Given the description of an element on the screen output the (x, y) to click on. 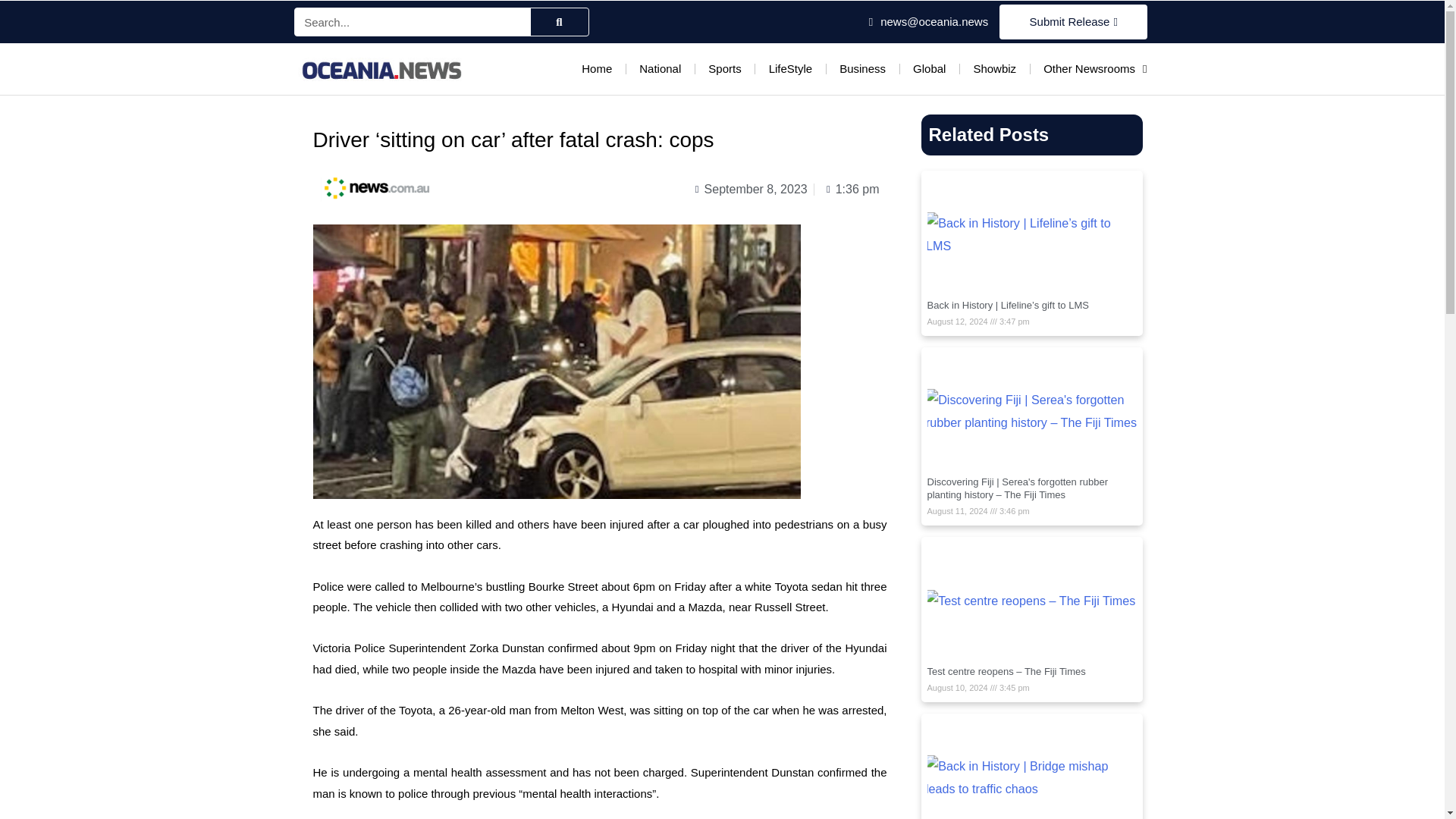
Other Newsrooms (1094, 69)
Global (929, 69)
Showbiz (994, 69)
Sports (724, 69)
National (659, 69)
LifeStyle (791, 69)
Search (559, 22)
Business (862, 69)
September 8, 2023 (748, 189)
Submit Release (1072, 21)
